Given the description of an element on the screen output the (x, y) to click on. 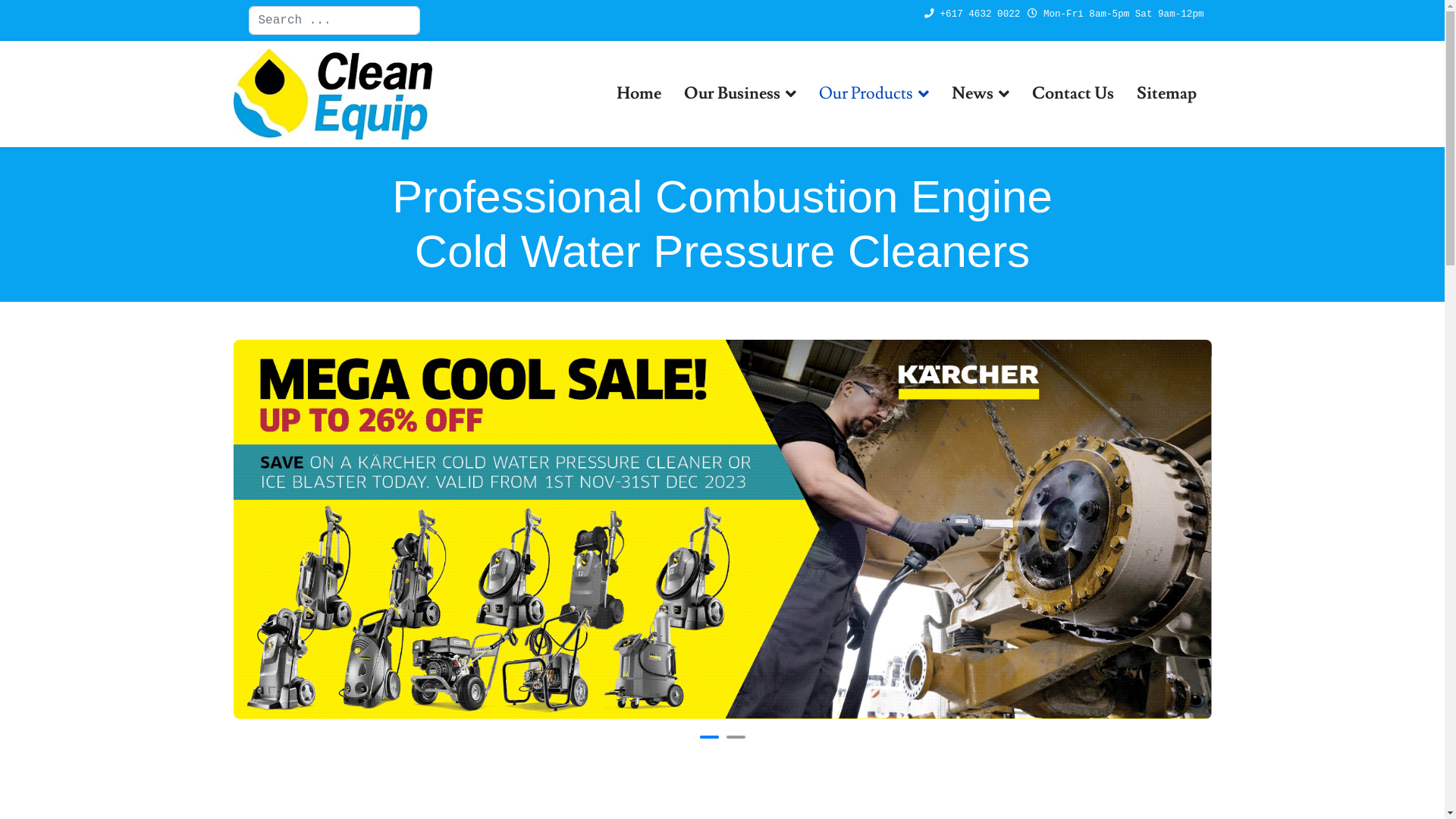
Home Element type: text (638, 93)
Our Products Element type: text (872, 93)
News Element type: text (980, 93)
Our Business Element type: text (738, 93)
Contact Us Element type: text (1072, 93)
Sitemap Element type: text (1166, 93)
+617 4632 0022 Element type: text (980, 14)
